Given the description of an element on the screen output the (x, y) to click on. 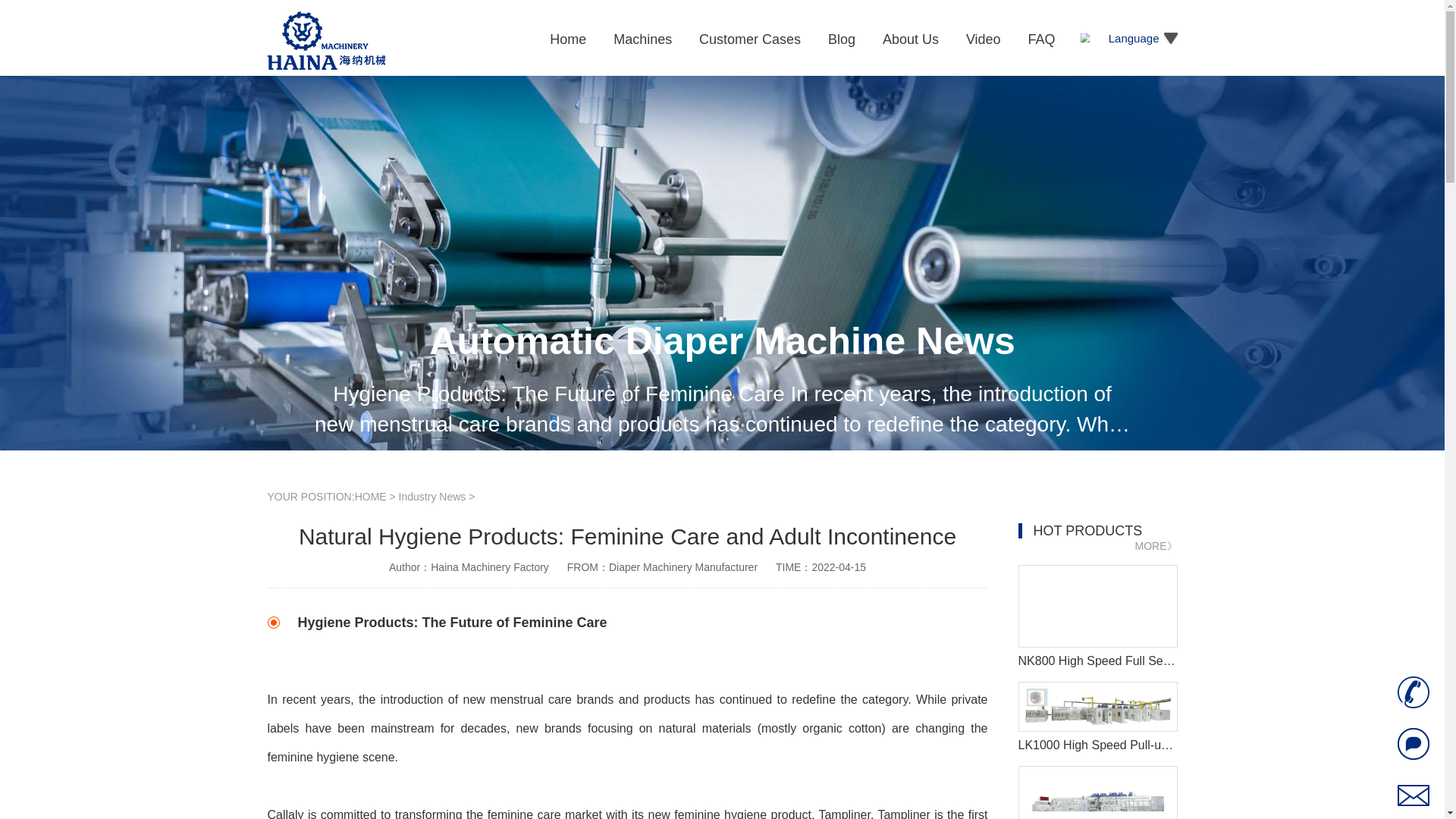
Customer Cases (751, 39)
About Us (912, 39)
HOME (371, 496)
Machines (643, 39)
